Given the description of an element on the screen output the (x, y) to click on. 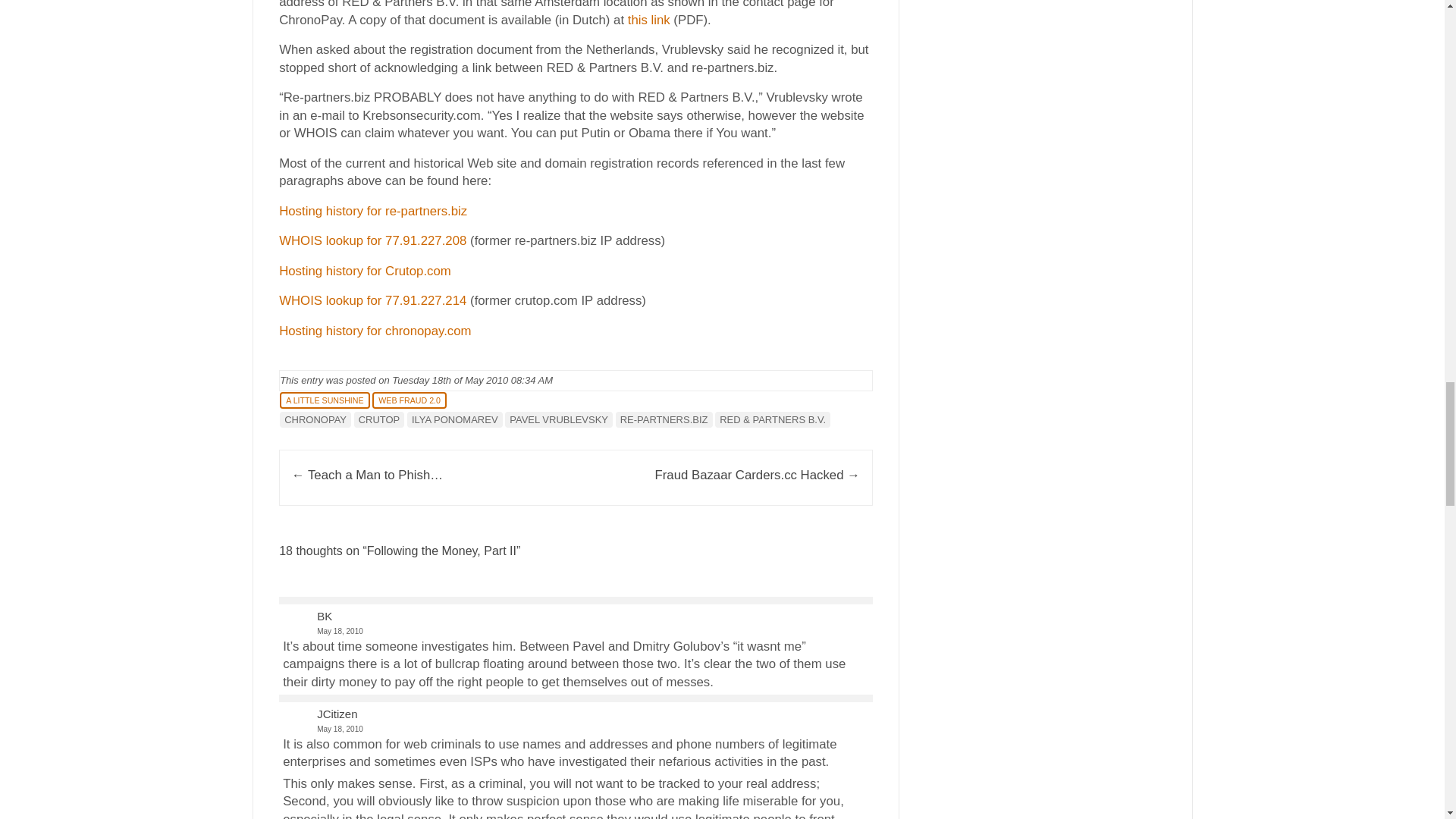
A LITTLE SUNSHINE (324, 400)
CHRONOPAY (314, 419)
Hosting history for re-partners.biz (373, 210)
WHOIS lookup for 77.91.227.214 (372, 300)
Hosting history for chronopay.com (374, 330)
CRUTOP (378, 419)
Hosting history for Crutop.com (365, 270)
this link (648, 20)
WHOIS lookup for 77.91.227.208 (372, 240)
WEB FRAUD 2.0 (409, 400)
